Given the description of an element on the screen output the (x, y) to click on. 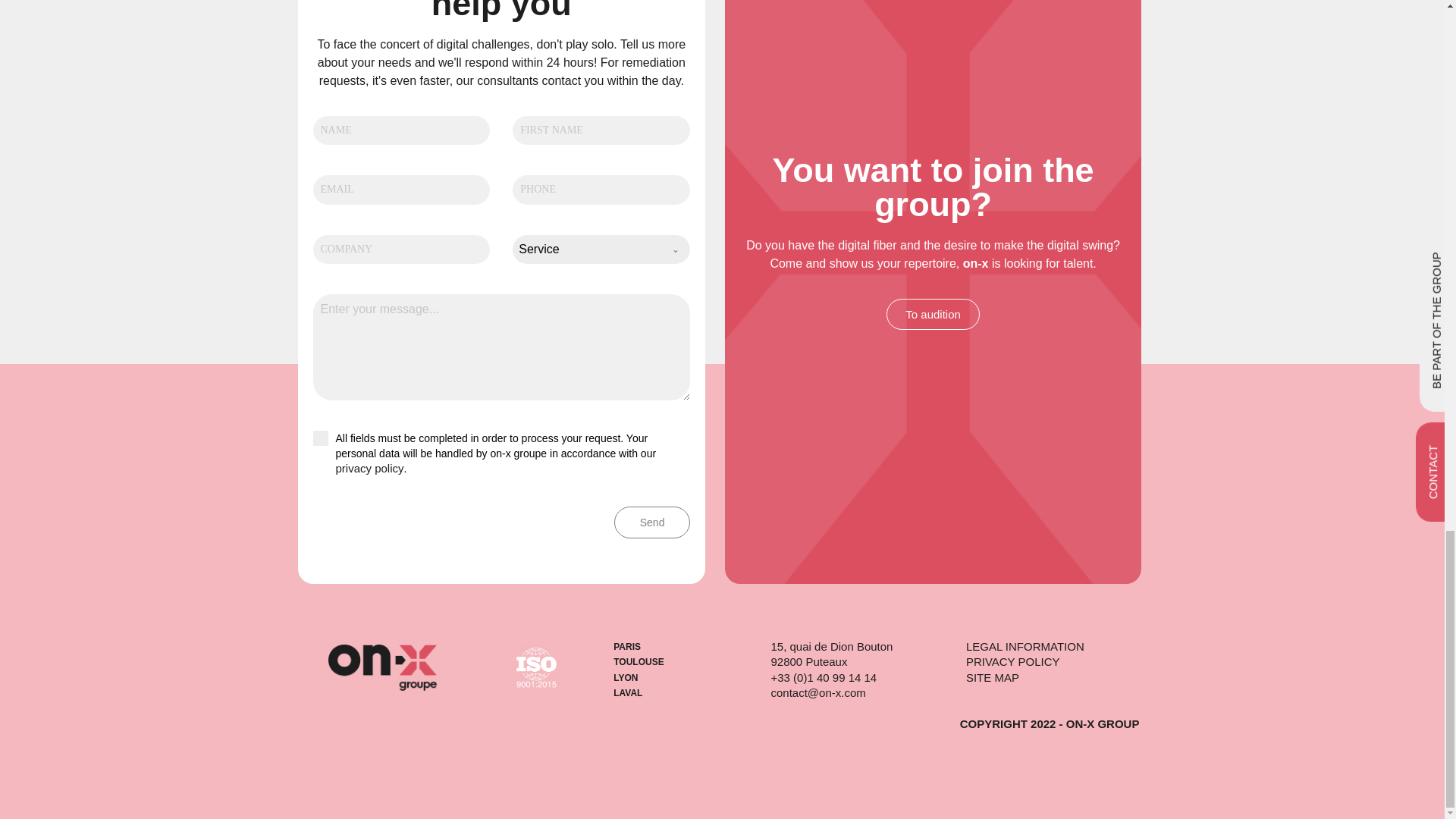
Service (586, 249)
